Given the description of an element on the screen output the (x, y) to click on. 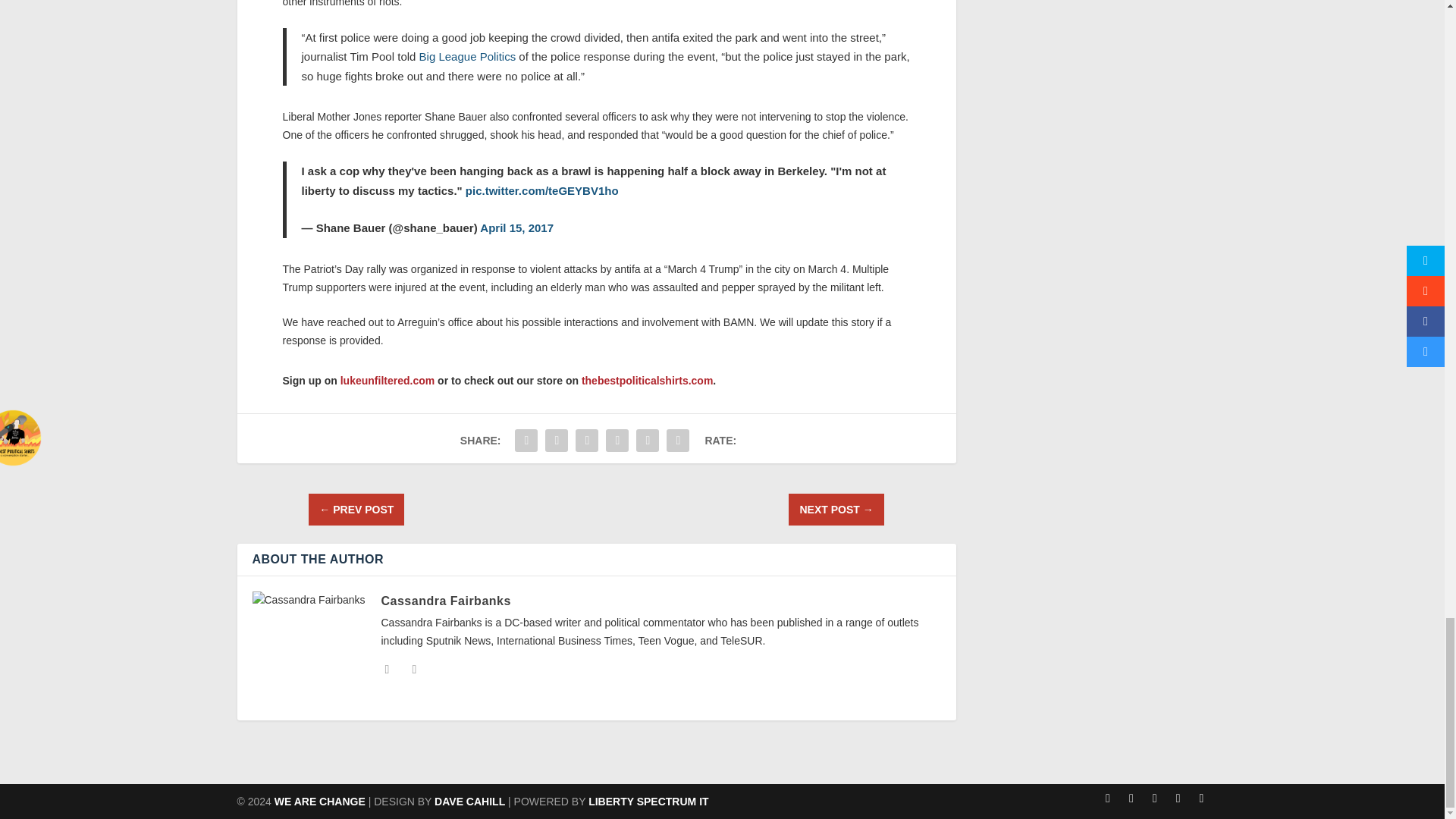
DivDav (469, 801)
We Are Change (320, 801)
View all posts by Cassandra Fairbanks (445, 600)
